Given the description of an element on the screen output the (x, y) to click on. 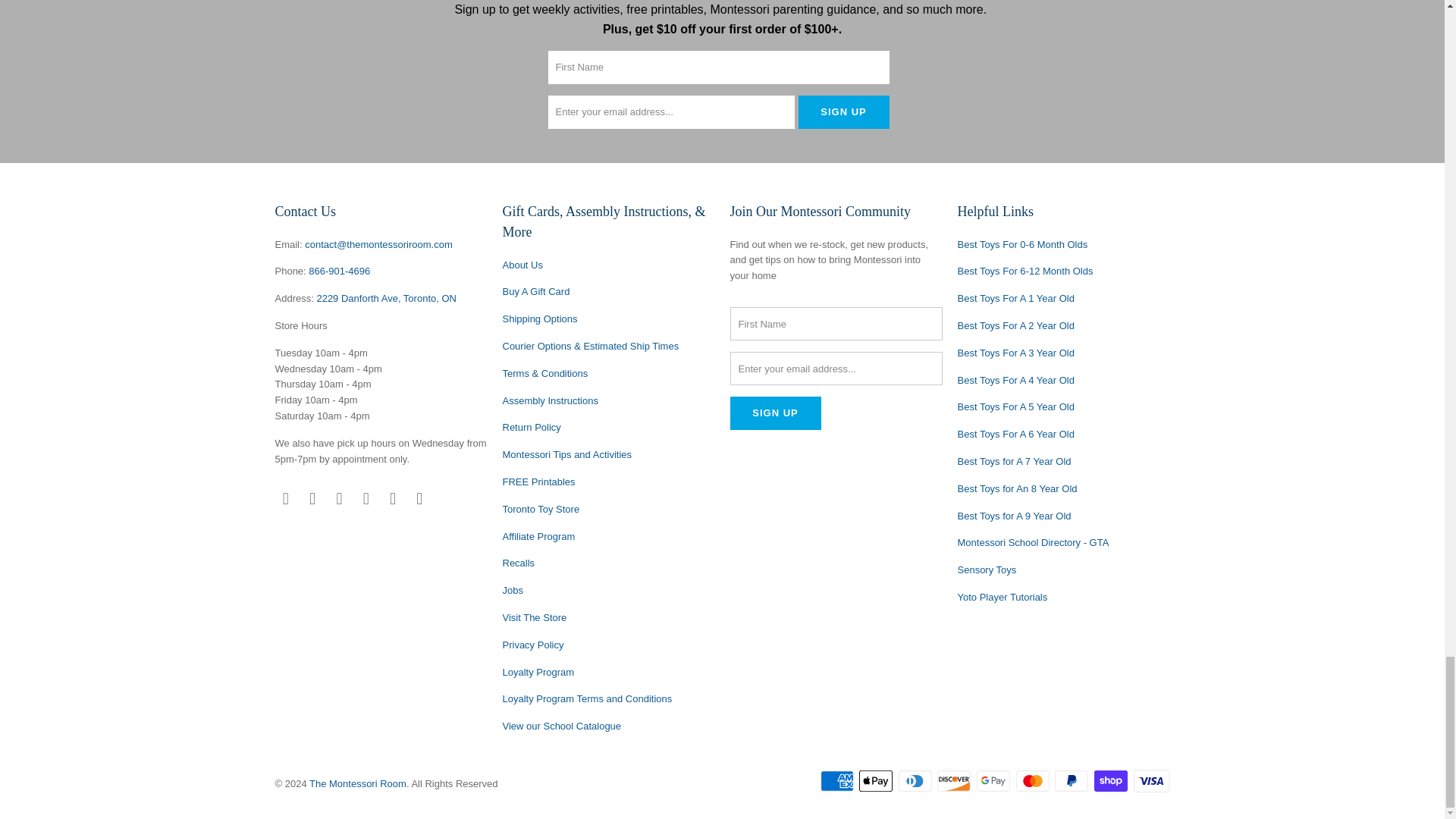
Visa (1150, 780)
Discover (955, 780)
Diners Club (916, 780)
Sign Up (842, 111)
Shop Pay (1112, 780)
Mastercard (1034, 780)
Apple Pay (877, 780)
Google Pay (994, 780)
Sign Up (775, 412)
PayPal (1072, 780)
American Express (839, 780)
